Given the description of an element on the screen output the (x, y) to click on. 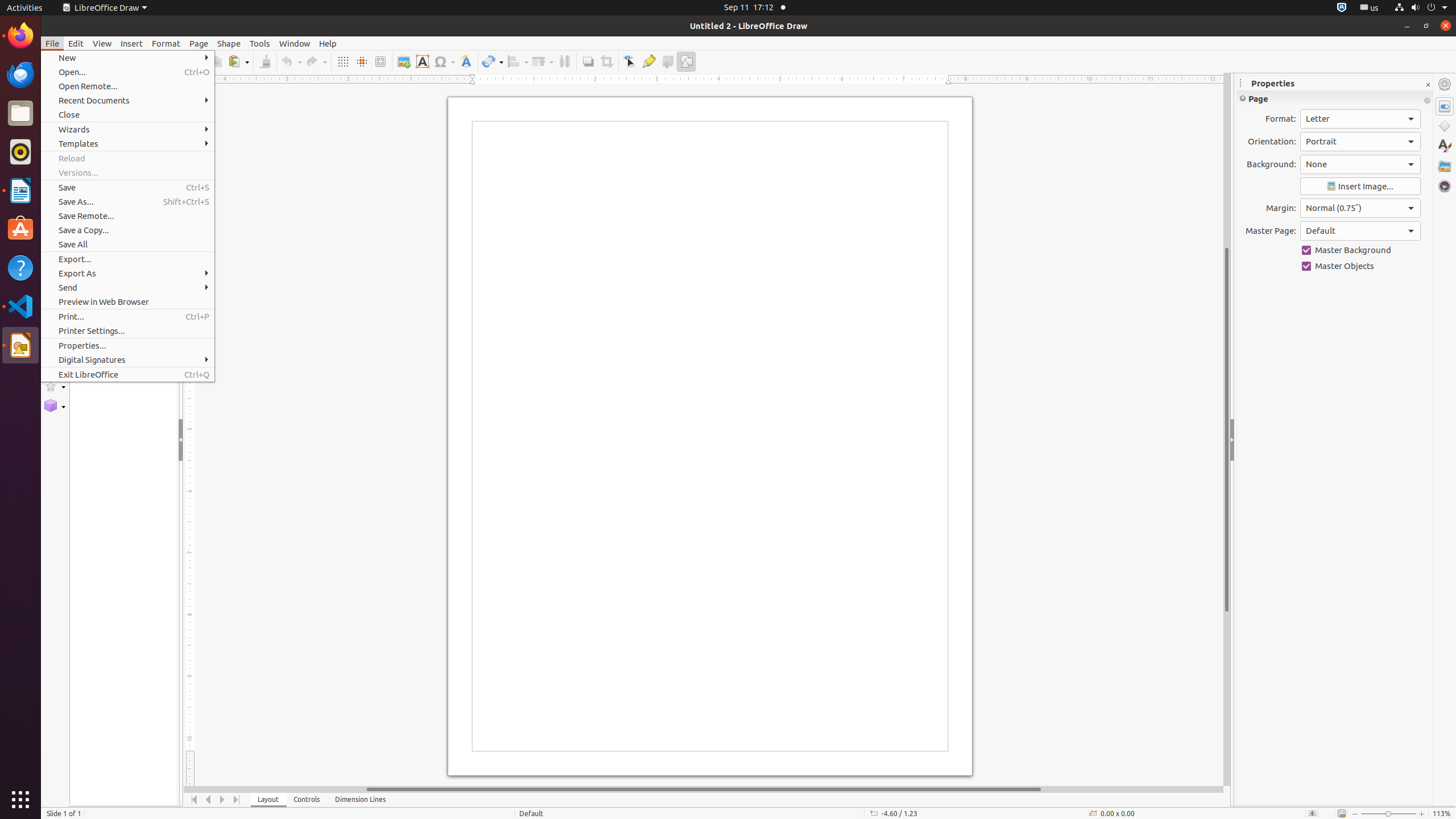
Wizards Element type: menu (127, 129)
Arrange Element type: push-button (542, 61)
Move Right Element type: push-button (222, 799)
Fontwork Style Element type: toggle-button (465, 61)
Open... Element type: menu-item (127, 71)
